Given the description of an element on the screen output the (x, y) to click on. 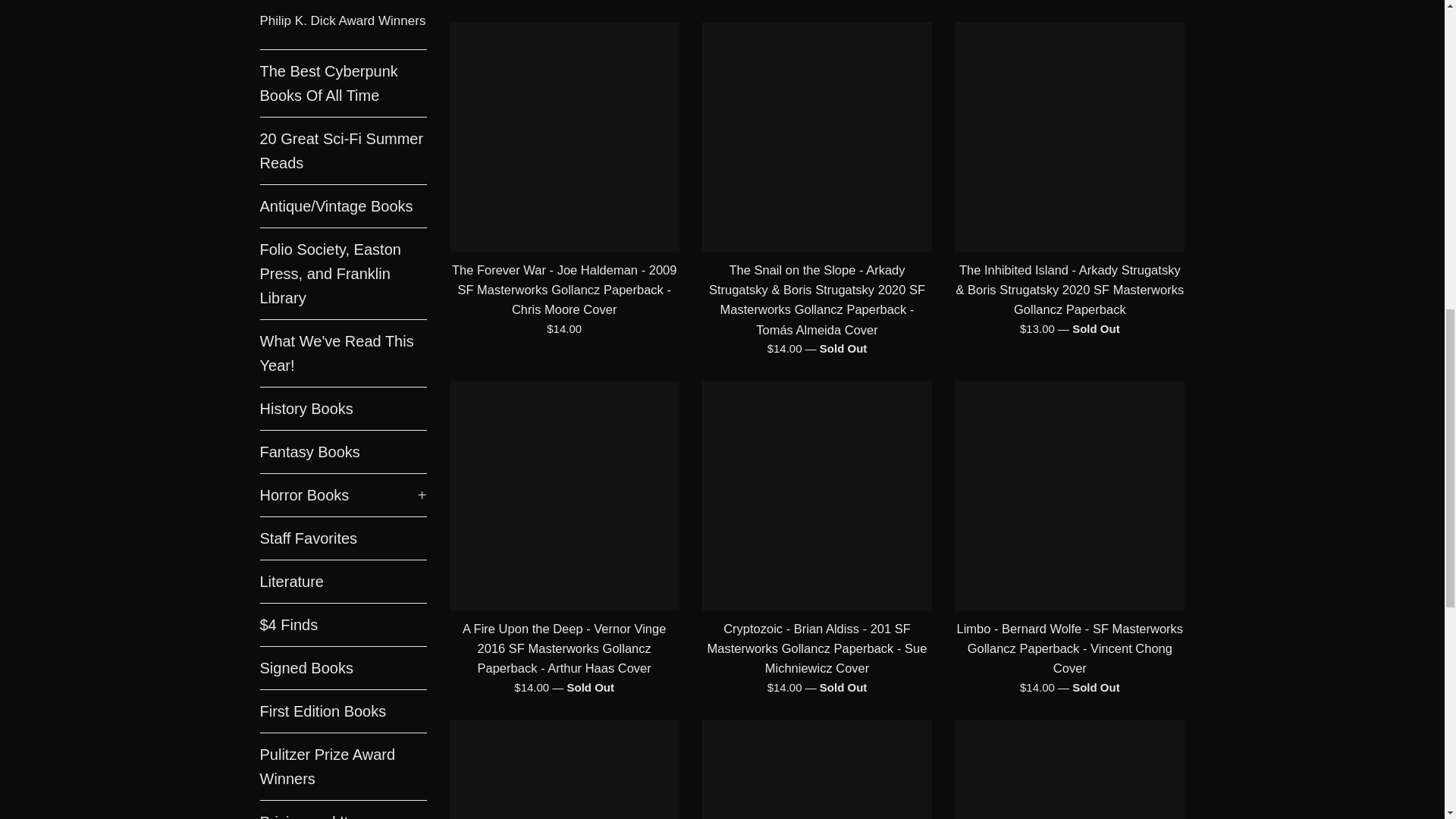
20 Great Sci-Fi Summer Reads (342, 150)
Literature (342, 581)
Staff Favorites (342, 537)
Nebula Award Winners (342, 3)
Folio Society, Easton Press, and Franklin Library (342, 273)
